Given the description of an element on the screen output the (x, y) to click on. 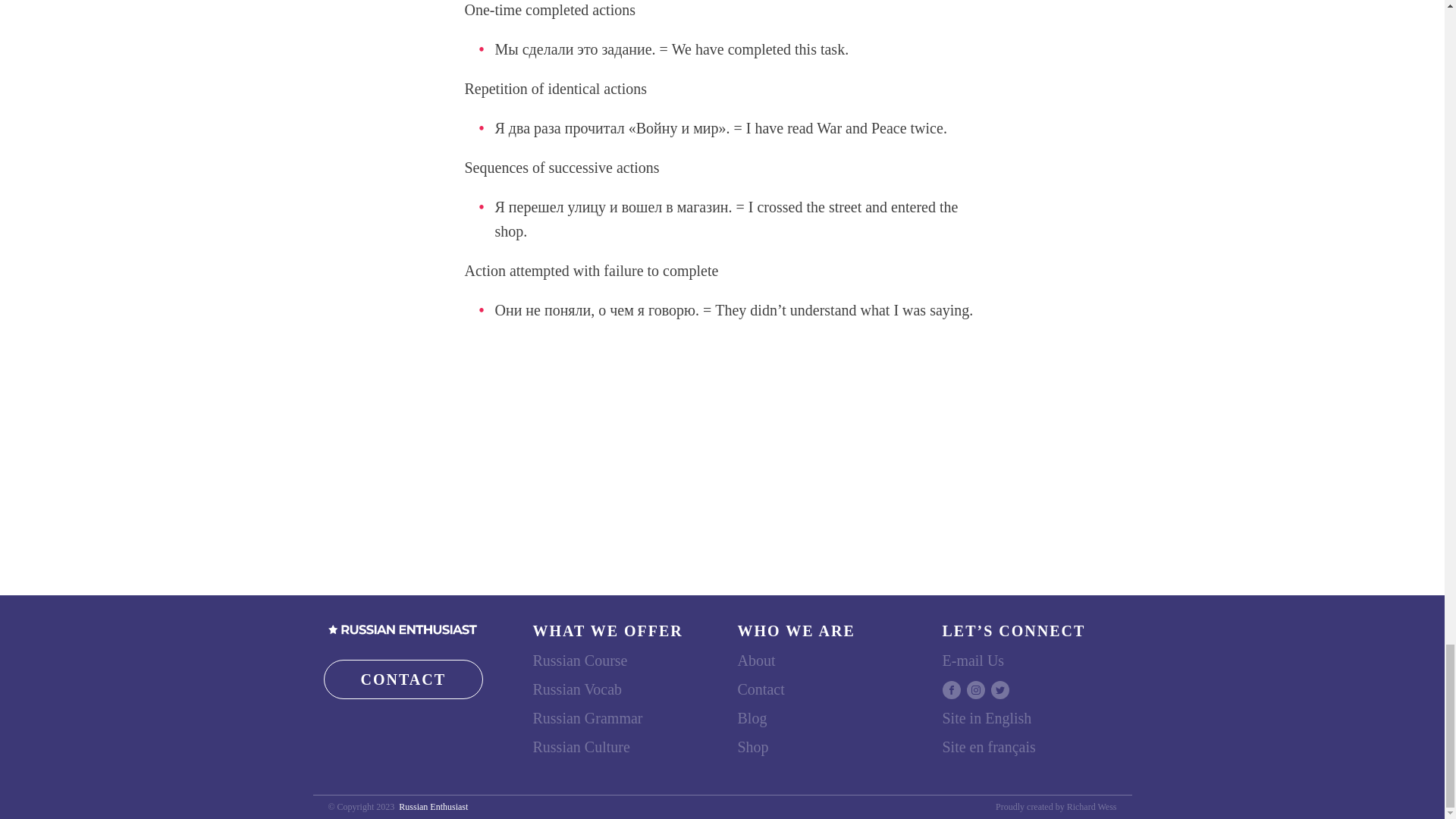
Proudly created by Richard Wess (1055, 806)
Russian Course (579, 660)
About (755, 660)
Russian Enthusiast (432, 806)
CONTACT (403, 679)
Russian Vocab (576, 689)
Russian Culture (580, 746)
Russian Grammar (587, 717)
Site in English (986, 717)
Contact (760, 689)
